Given the description of an element on the screen output the (x, y) to click on. 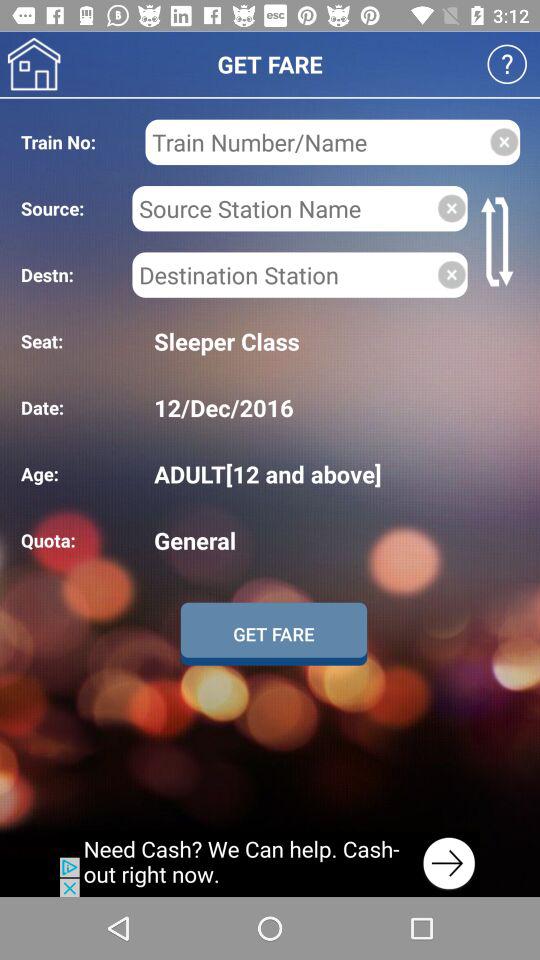
enter text (316, 142)
